Given the description of an element on the screen output the (x, y) to click on. 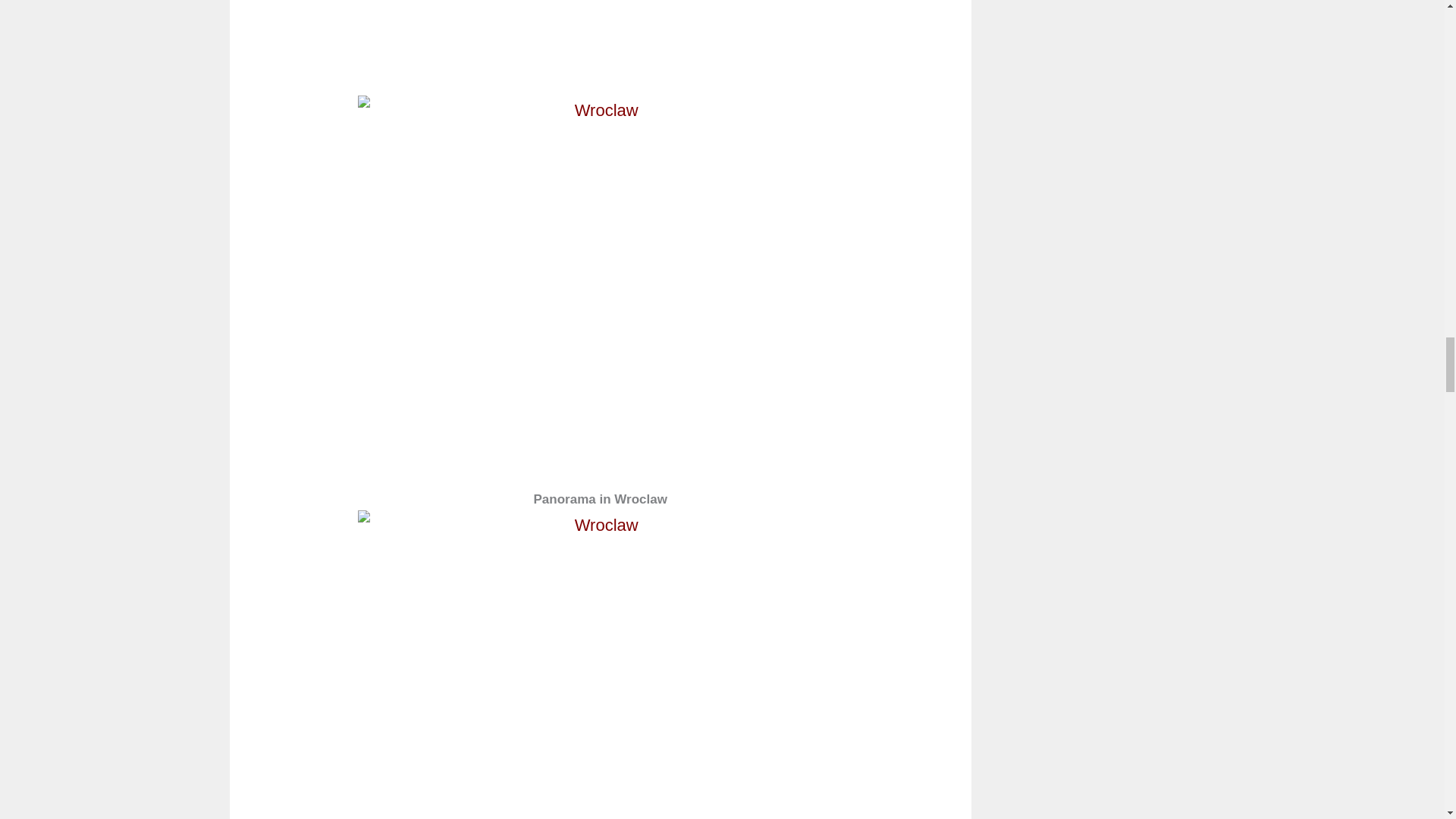
Wroclaw (600, 33)
